Given the description of an element on the screen output the (x, y) to click on. 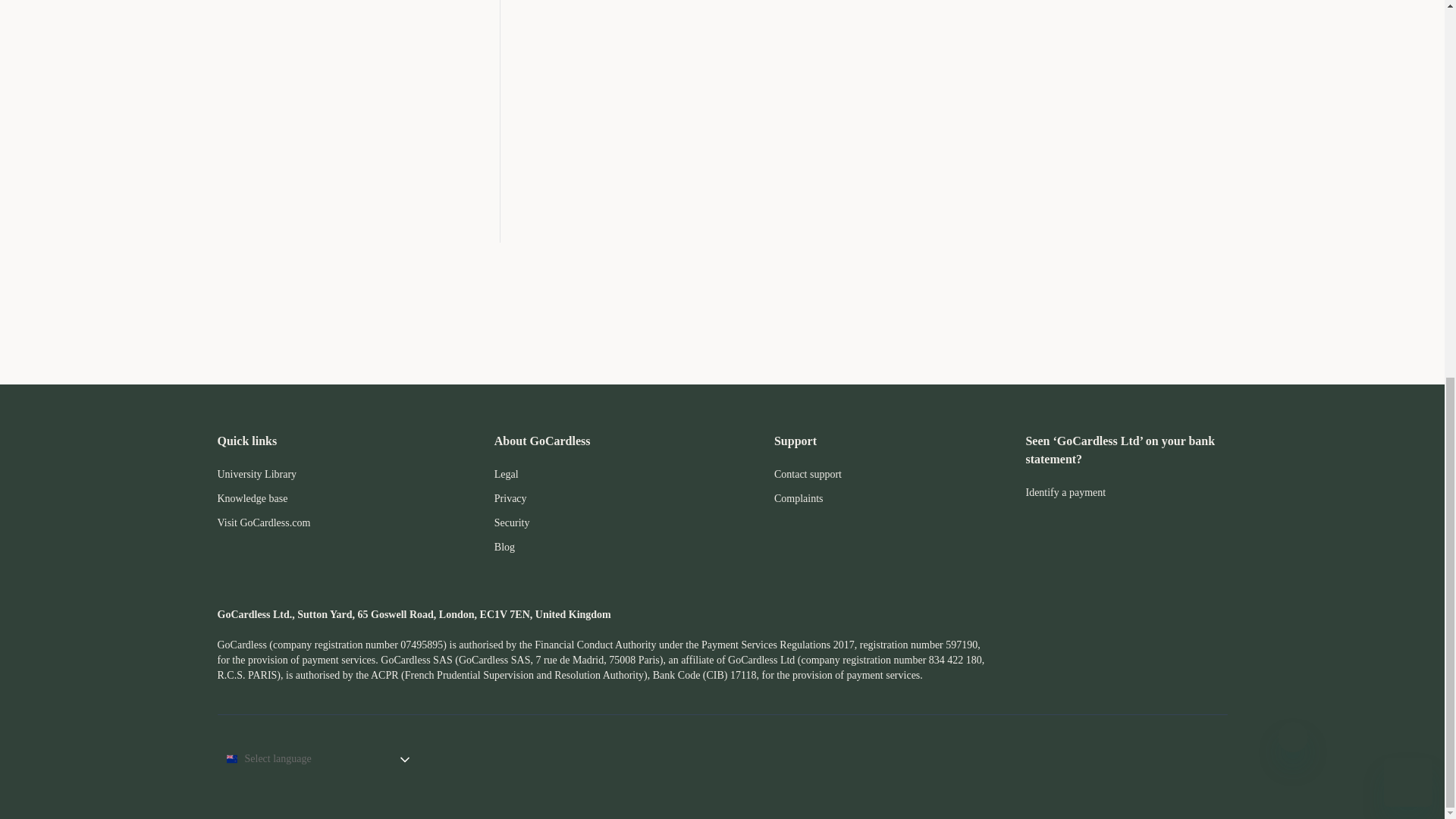
Contact support (807, 473)
Visit GoCardless.com (263, 522)
Privacy (511, 498)
Select (404, 758)
Identify a payment (1065, 491)
Complaints (799, 498)
Blog (505, 546)
University Library (256, 473)
Legal (506, 473)
Security (512, 522)
Knowledge base (251, 498)
